Given the description of an element on the screen output the (x, y) to click on. 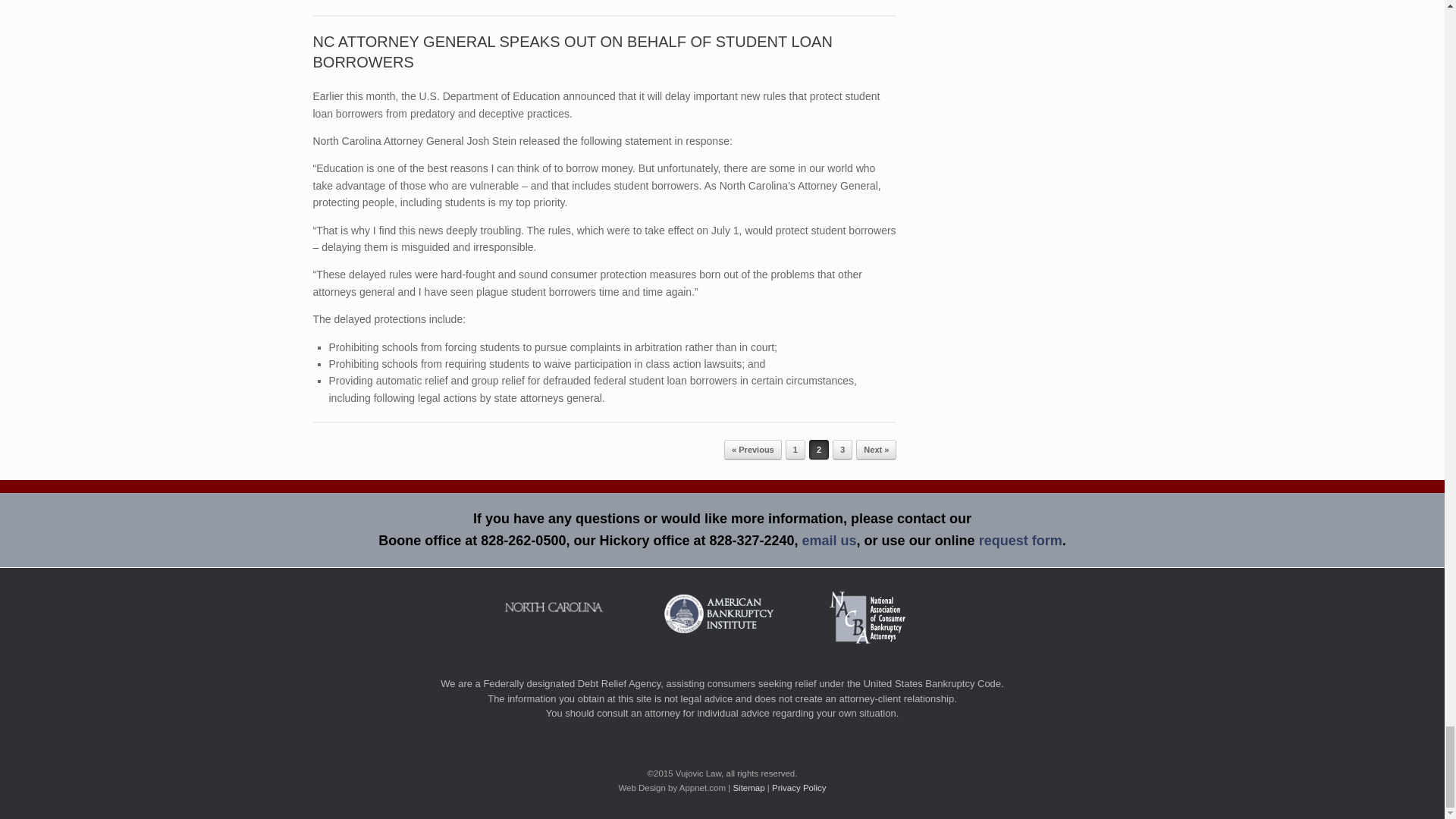
request form (1020, 540)
Privacy Policy (799, 787)
3 (841, 449)
Sitemap (748, 787)
email us (829, 540)
1 (795, 449)
